Given the description of an element on the screen output the (x, y) to click on. 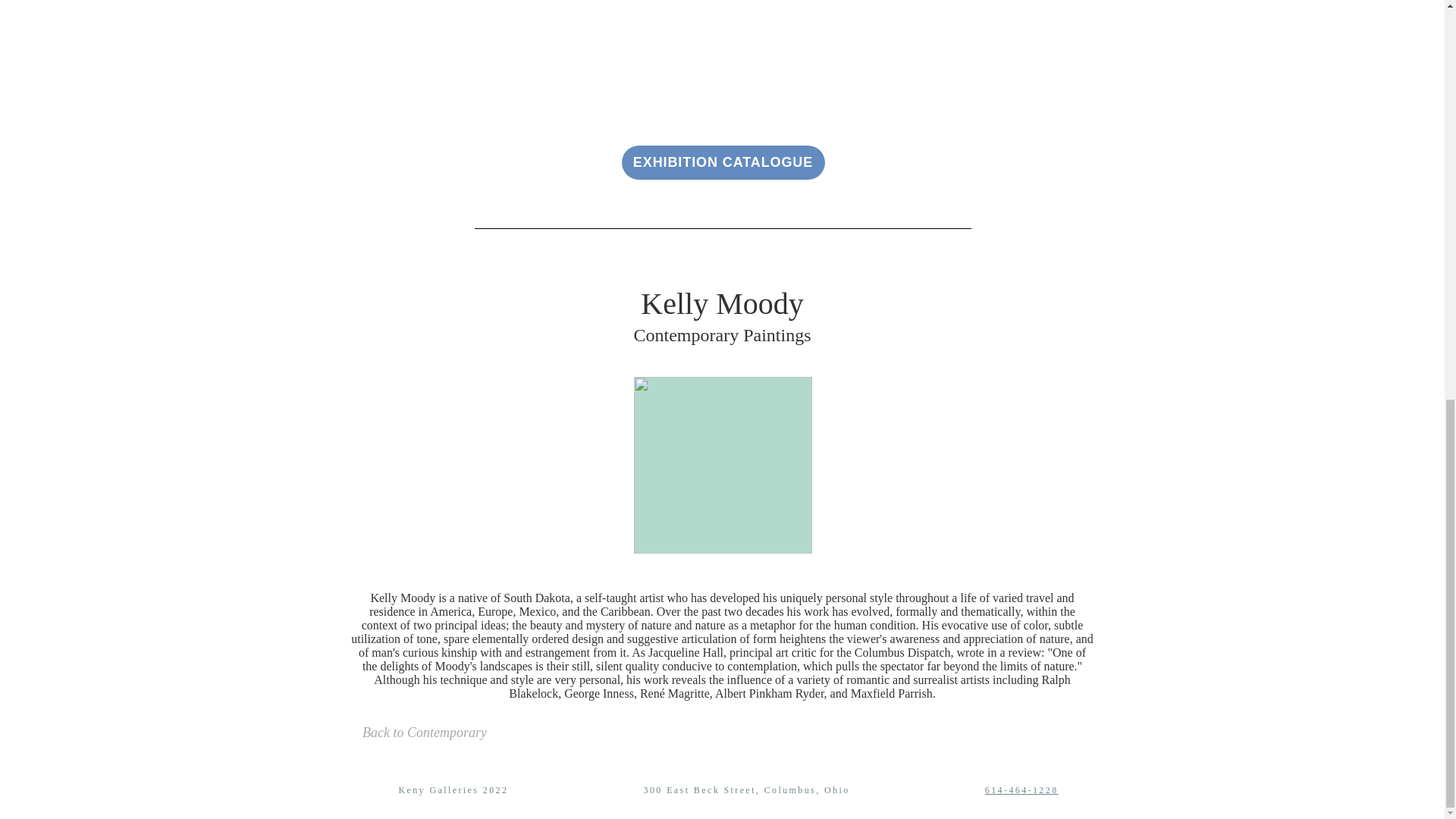
EXHIBITION CATALOGUE (723, 162)
Back to Contemporary (424, 733)
614-464-1228 (1021, 789)
